Given the description of an element on the screen output the (x, y) to click on. 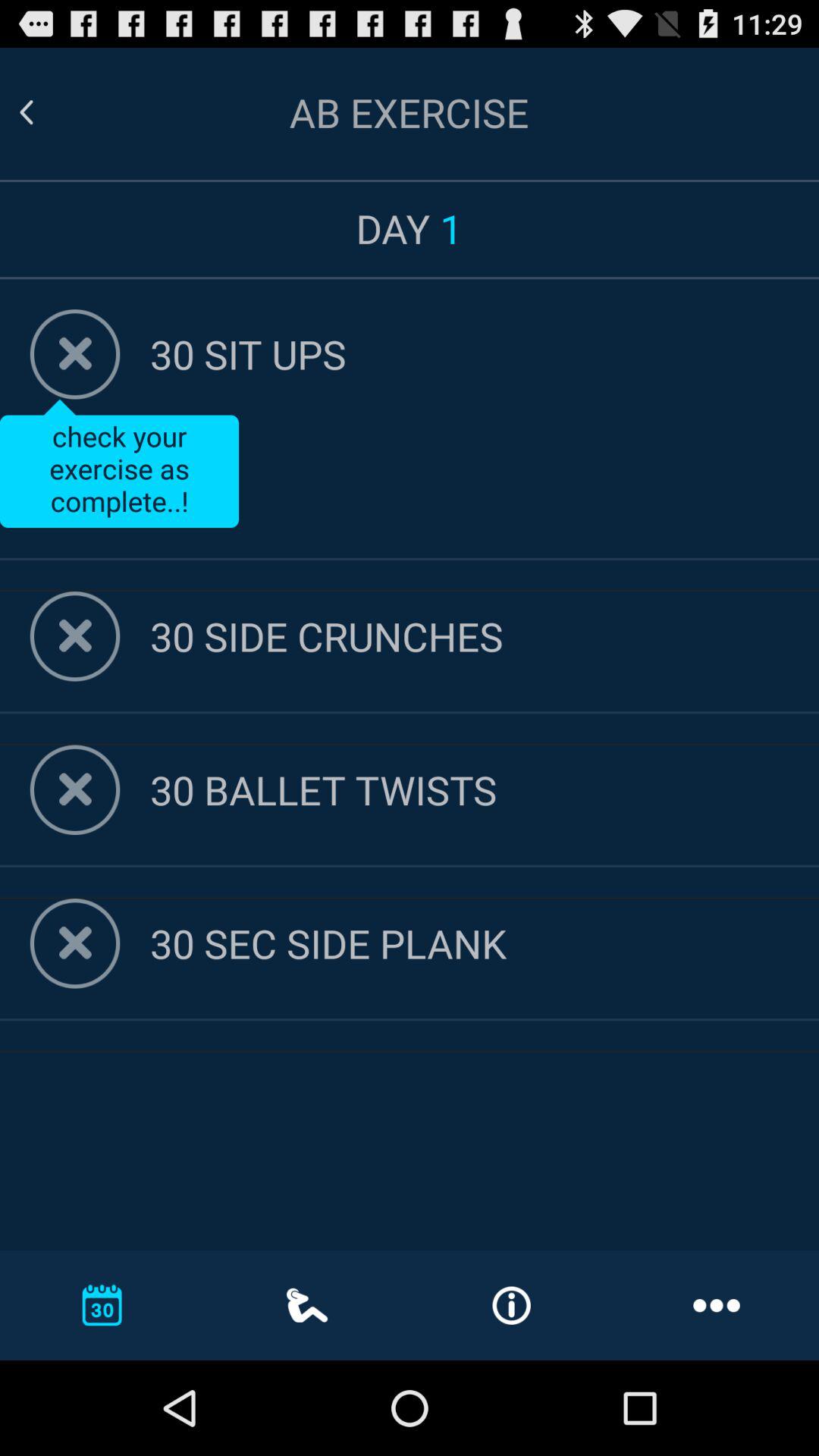
turn on check your exercise (119, 463)
